Given the description of an element on the screen output the (x, y) to click on. 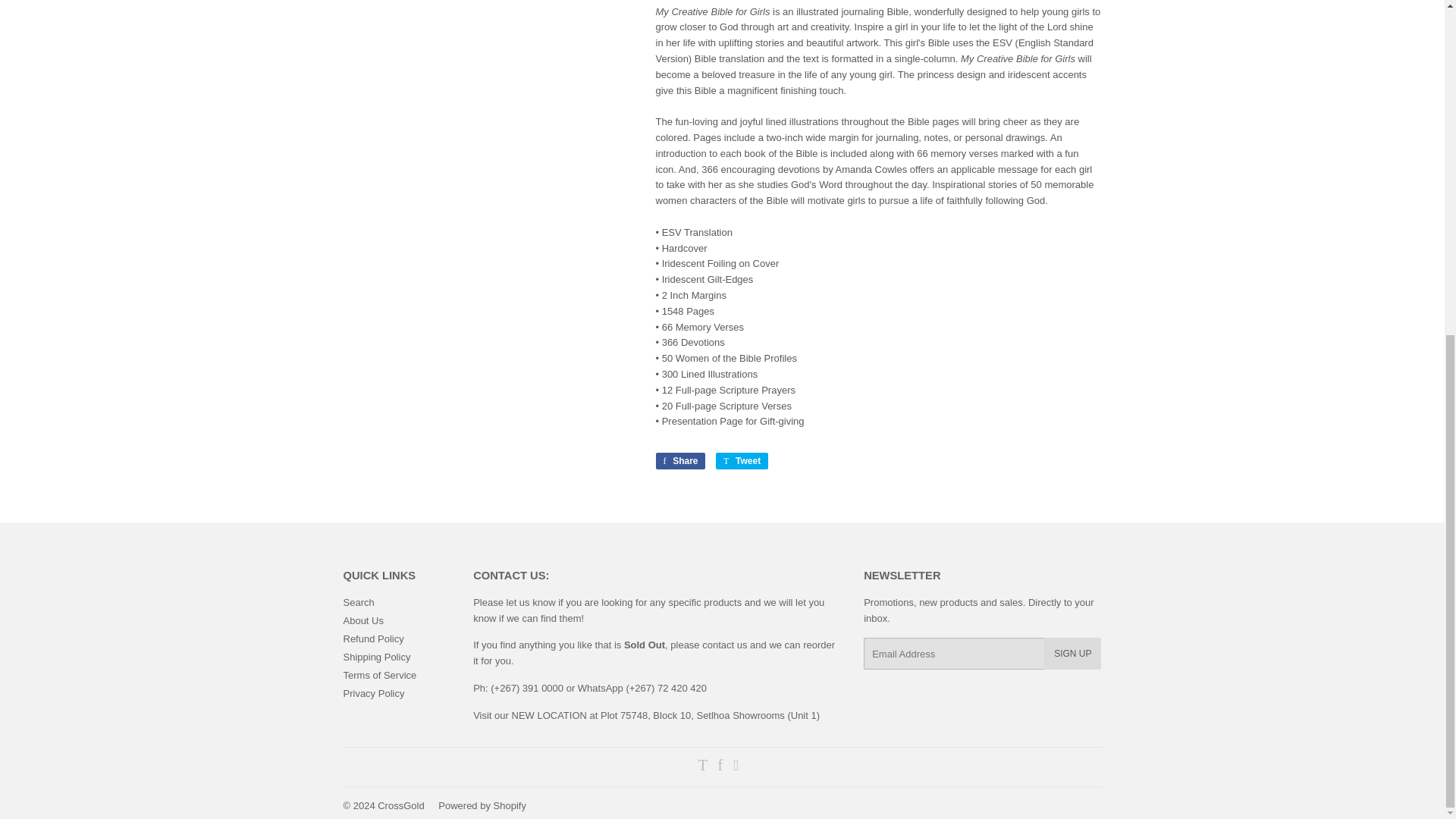
CrossGold on Twitter (702, 767)
CrossGold on Facebook (720, 767)
Tweet on Twitter (742, 460)
CrossGold on Instagram (735, 767)
Share on Facebook (679, 460)
